Given the description of an element on the screen output the (x, y) to click on. 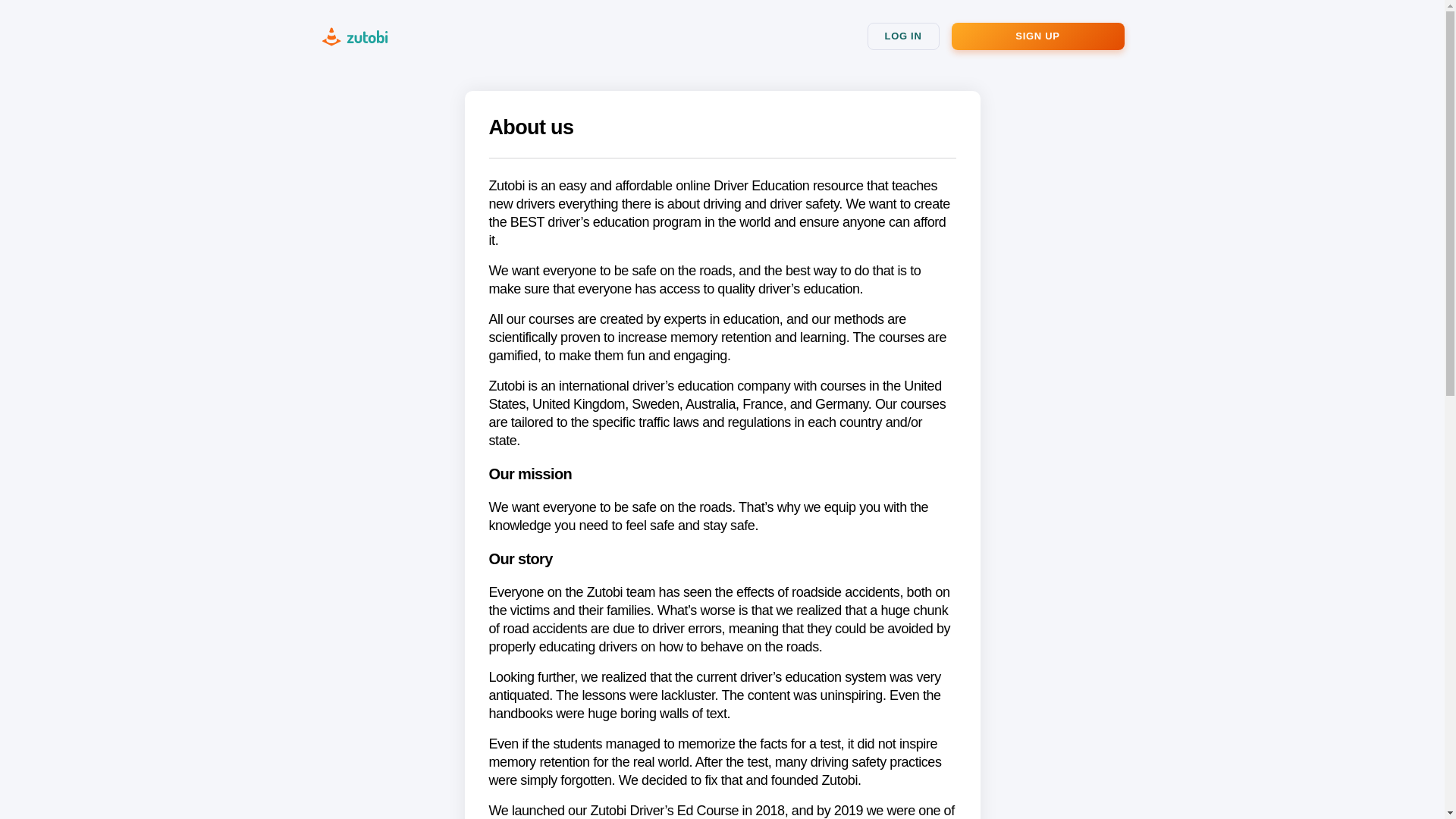
LOG IN (903, 35)
LOG IN (903, 36)
SIGN UP (1037, 36)
SIGN UP (1037, 35)
